Given the description of an element on the screen output the (x, y) to click on. 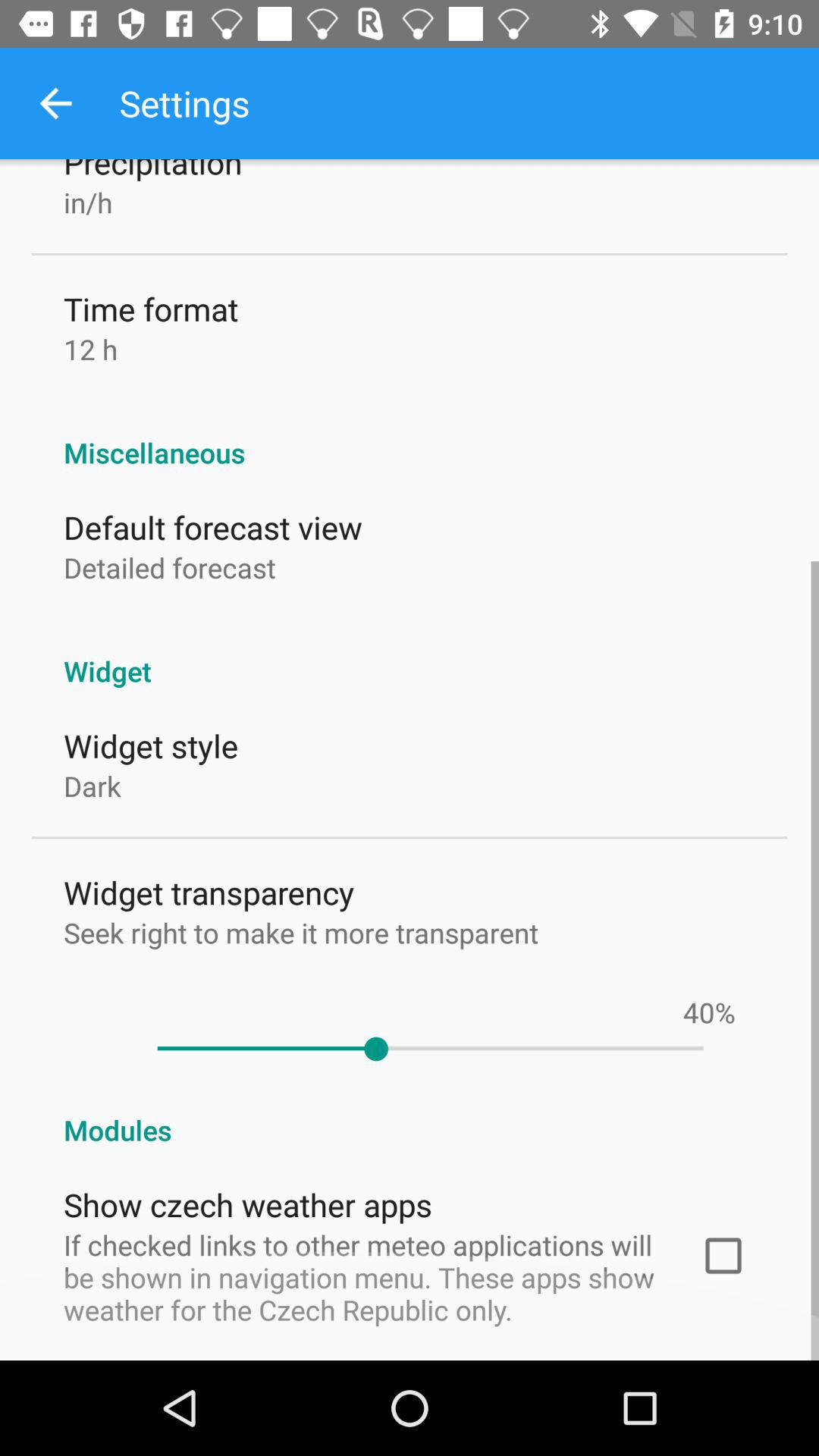
scroll to the modules (409, 1113)
